Given the description of an element on the screen output the (x, y) to click on. 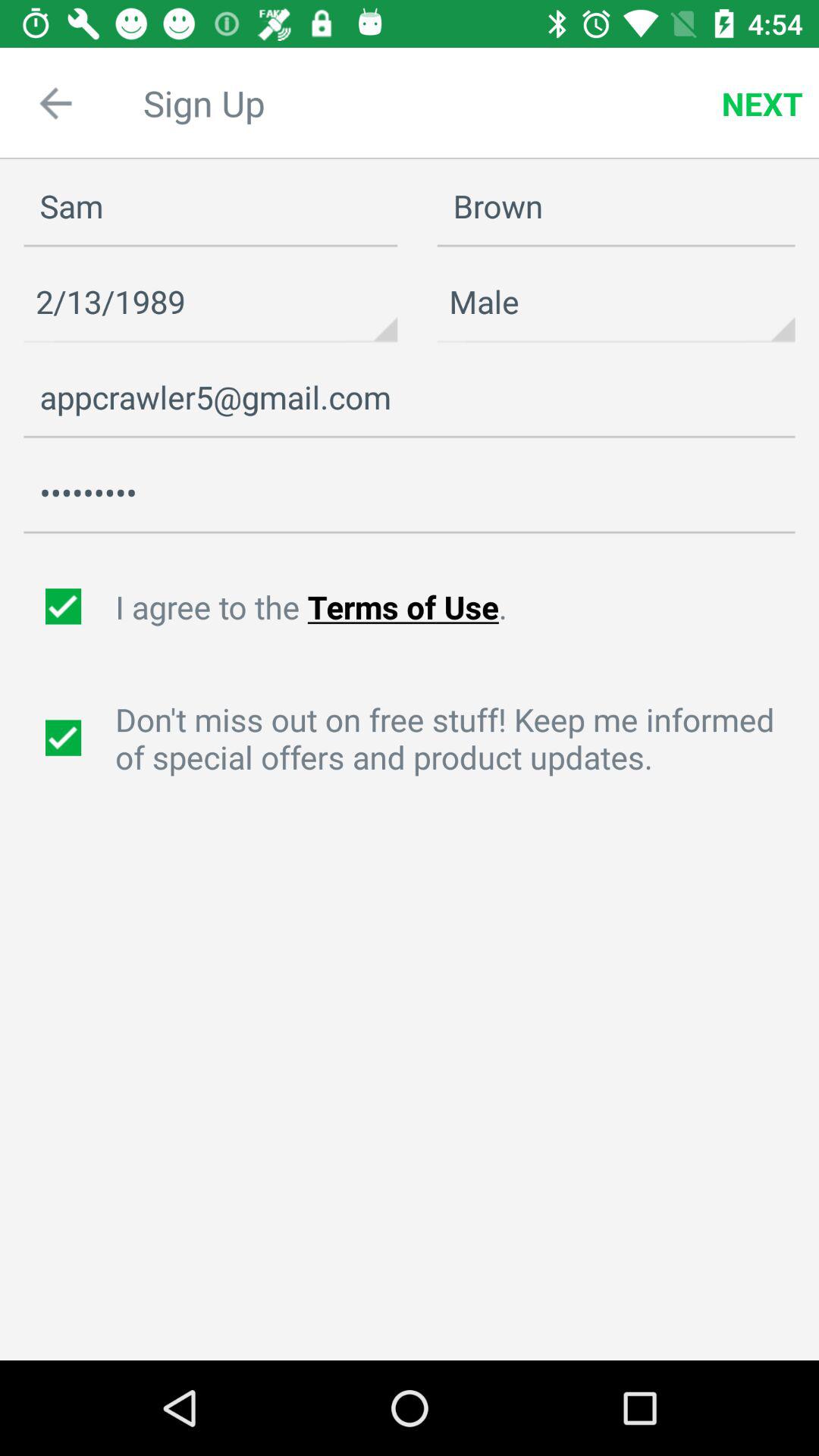
press the item next to sam item (616, 206)
